Given the description of an element on the screen output the (x, y) to click on. 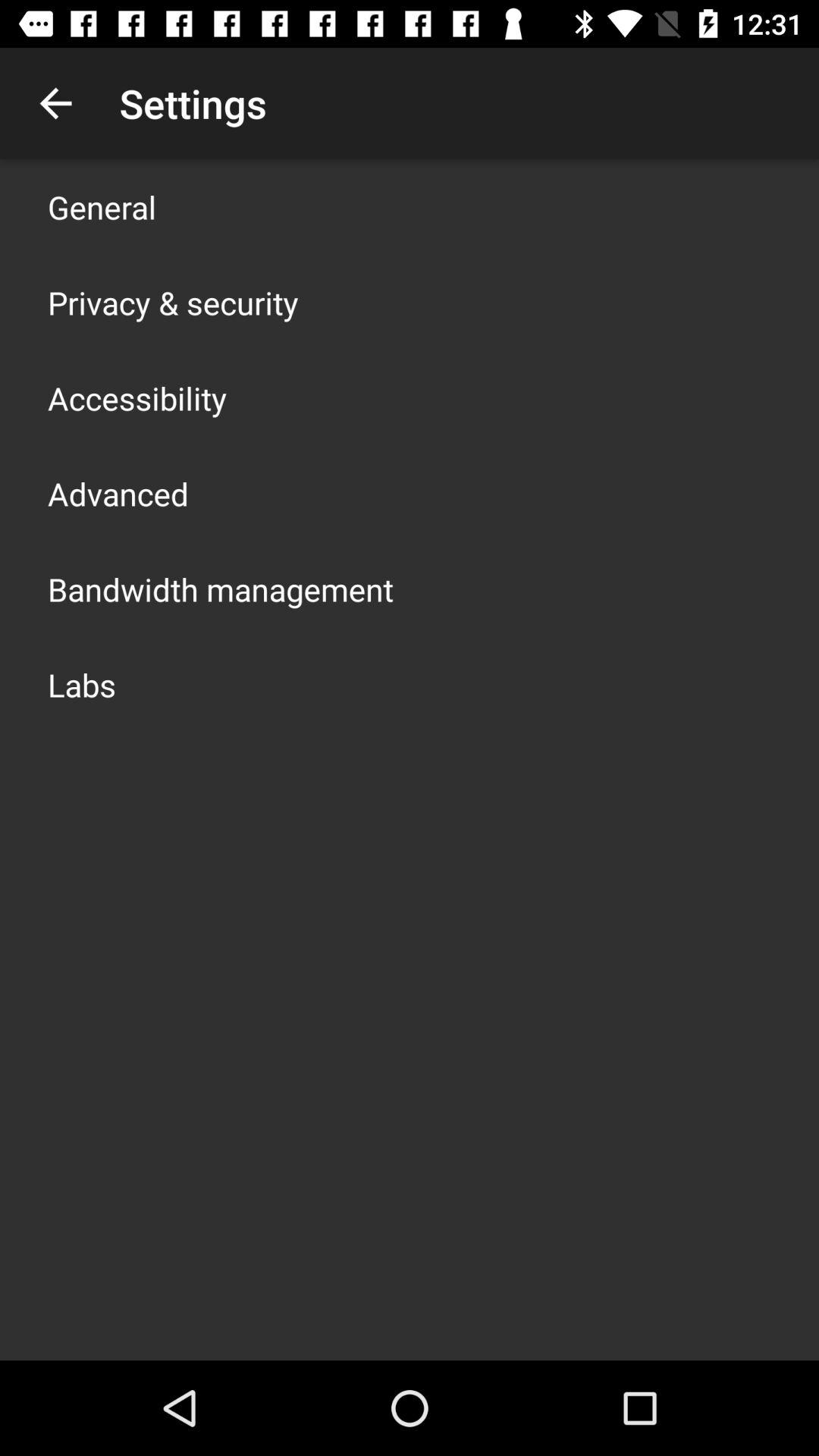
flip to the bandwidth management item (220, 588)
